Given the description of an element on the screen output the (x, y) to click on. 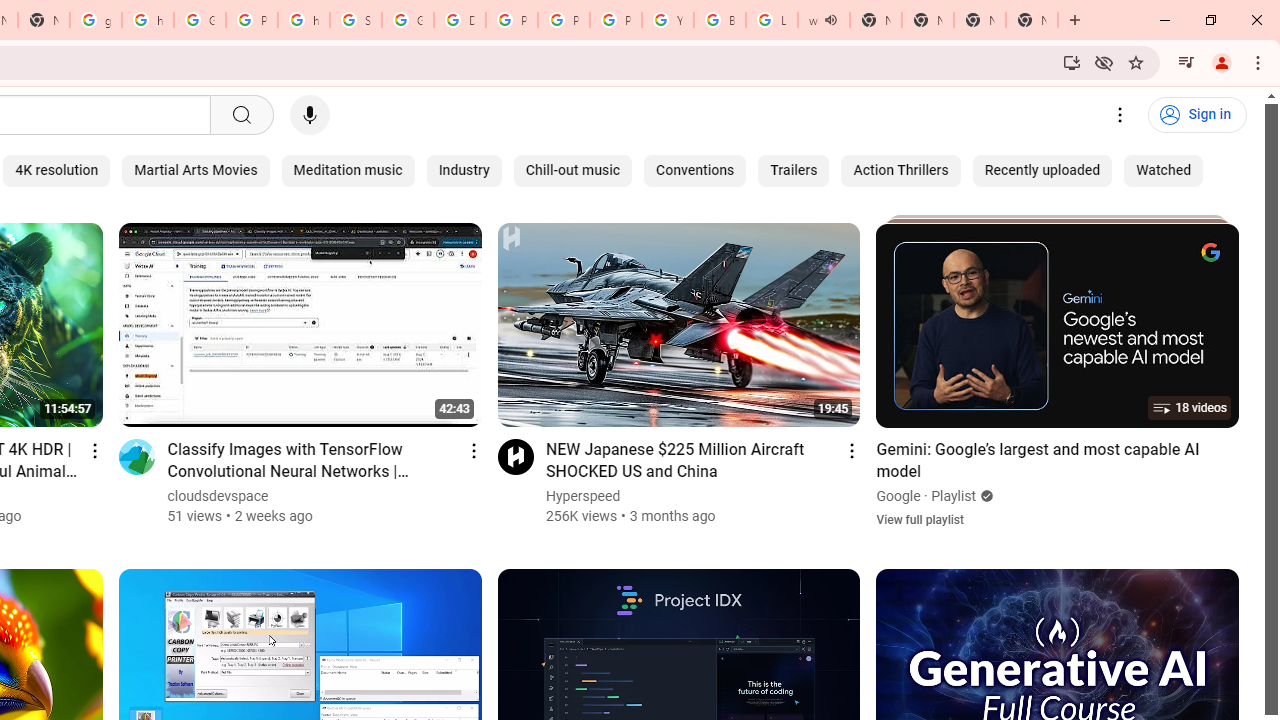
Recently uploaded (1042, 170)
Control your music, videos, and more (1185, 62)
Hyperspeed (583, 496)
Search with your voice (309, 115)
View full playlist (920, 519)
